Given the description of an element on the screen output the (x, y) to click on. 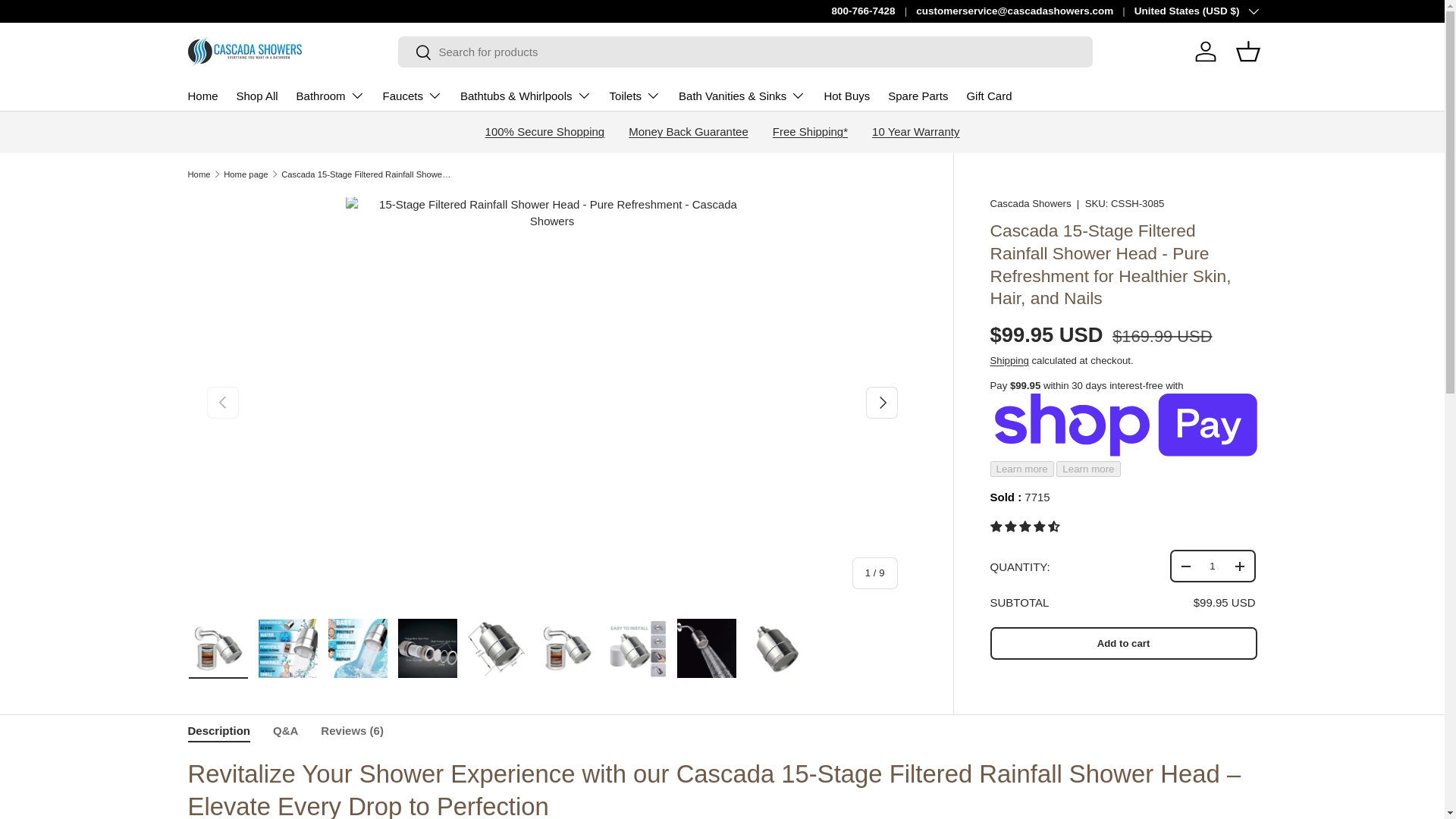
Shop All (256, 95)
800-766-7428 (874, 11)
Bathroom (331, 95)
Home (202, 95)
Search (413, 53)
Basket (1248, 51)
Skip to content (69, 21)
Log in (1206, 51)
